Given the description of an element on the screen output the (x, y) to click on. 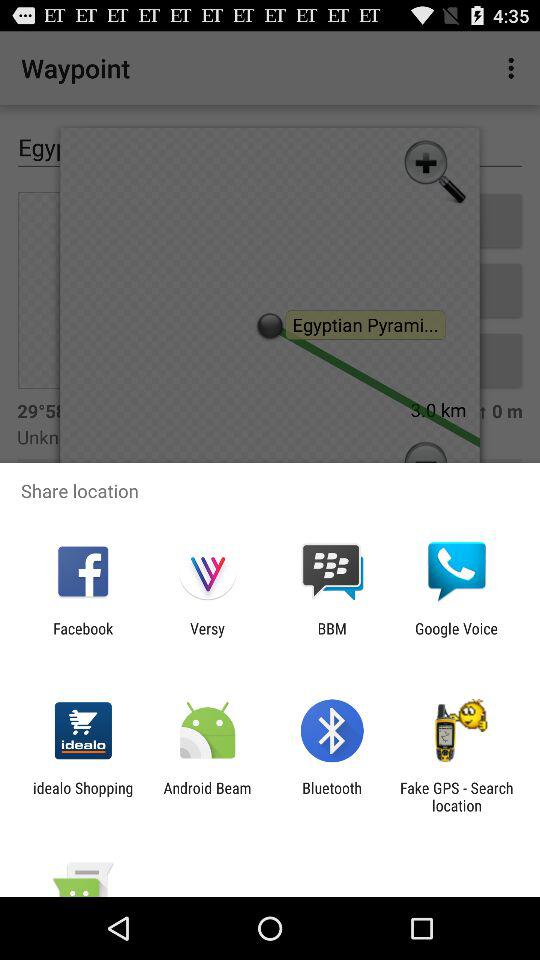
turn on bluetooth icon (331, 796)
